Given the description of an element on the screen output the (x, y) to click on. 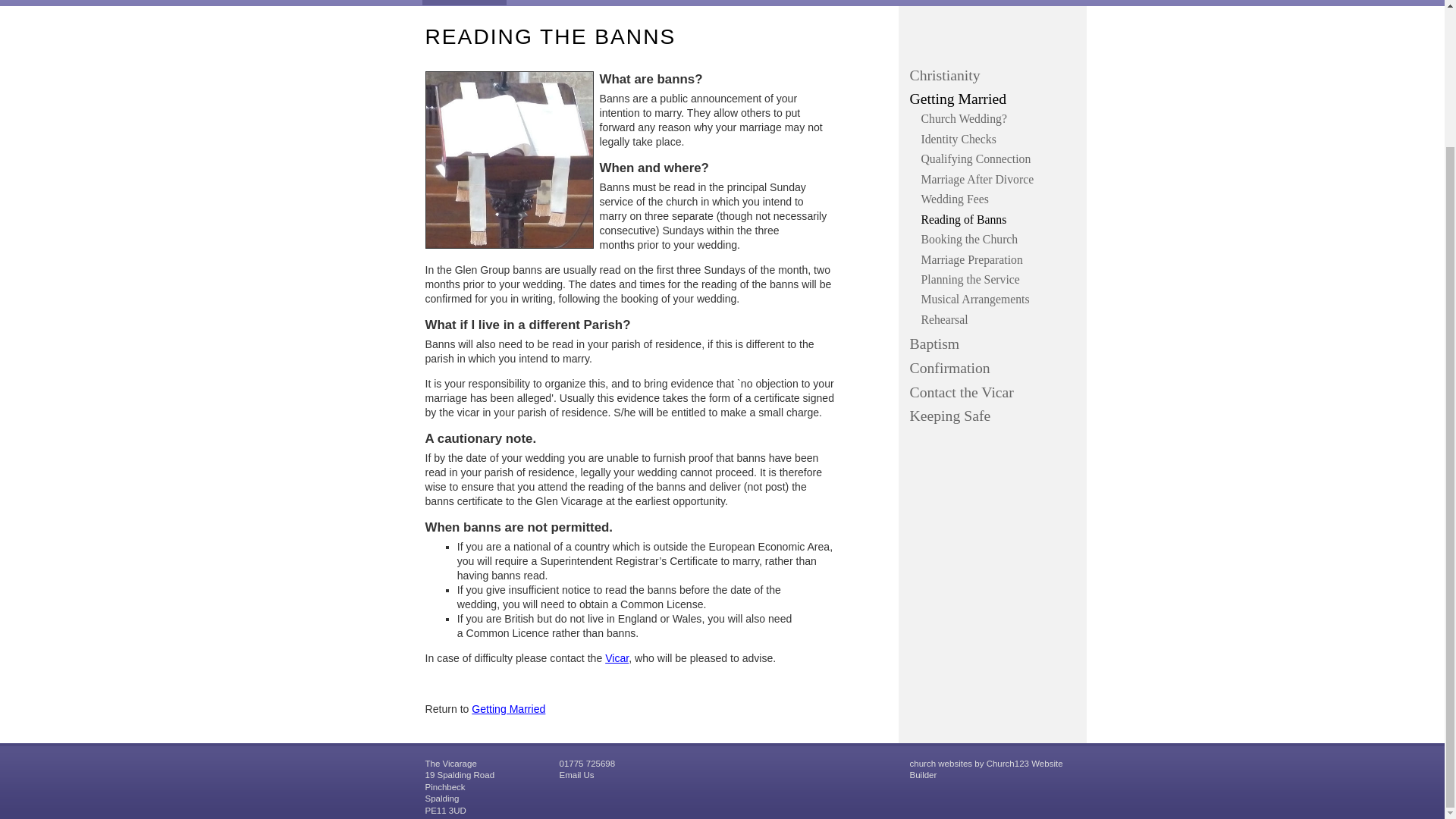
Wedding Fees (1000, 199)
St Mary (758, 2)
Vicar's Pages (463, 2)
Musical Arrangements (1000, 299)
Identity Checks (1000, 139)
church websites by Church123 Website Builder (986, 769)
Email Us (576, 774)
Christianity (995, 75)
Vicar (616, 657)
Getting Married (995, 98)
Lectern (508, 159)
Baptism (995, 343)
Keeping Safe (995, 415)
Marriage Preparation (1000, 258)
Marriage After Divorce (1000, 179)
